Given the description of an element on the screen output the (x, y) to click on. 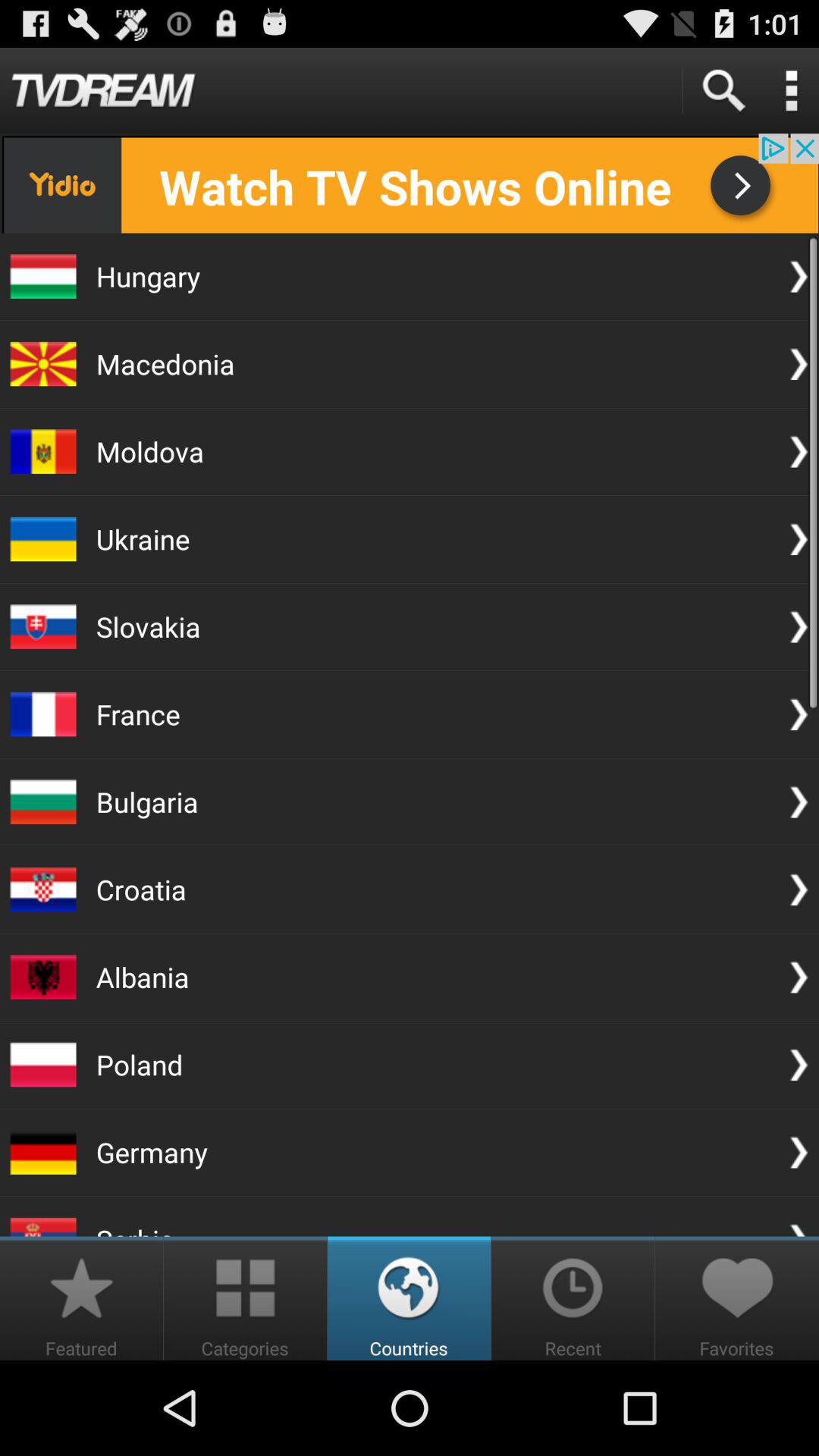
select the arrow icon beside poland (798, 1064)
select the arrow icon beside the bulgaria (798, 802)
click on the search icon on the top right hand side (722, 89)
select the arrow next to france (798, 714)
